Given the description of an element on the screen output the (x, y) to click on. 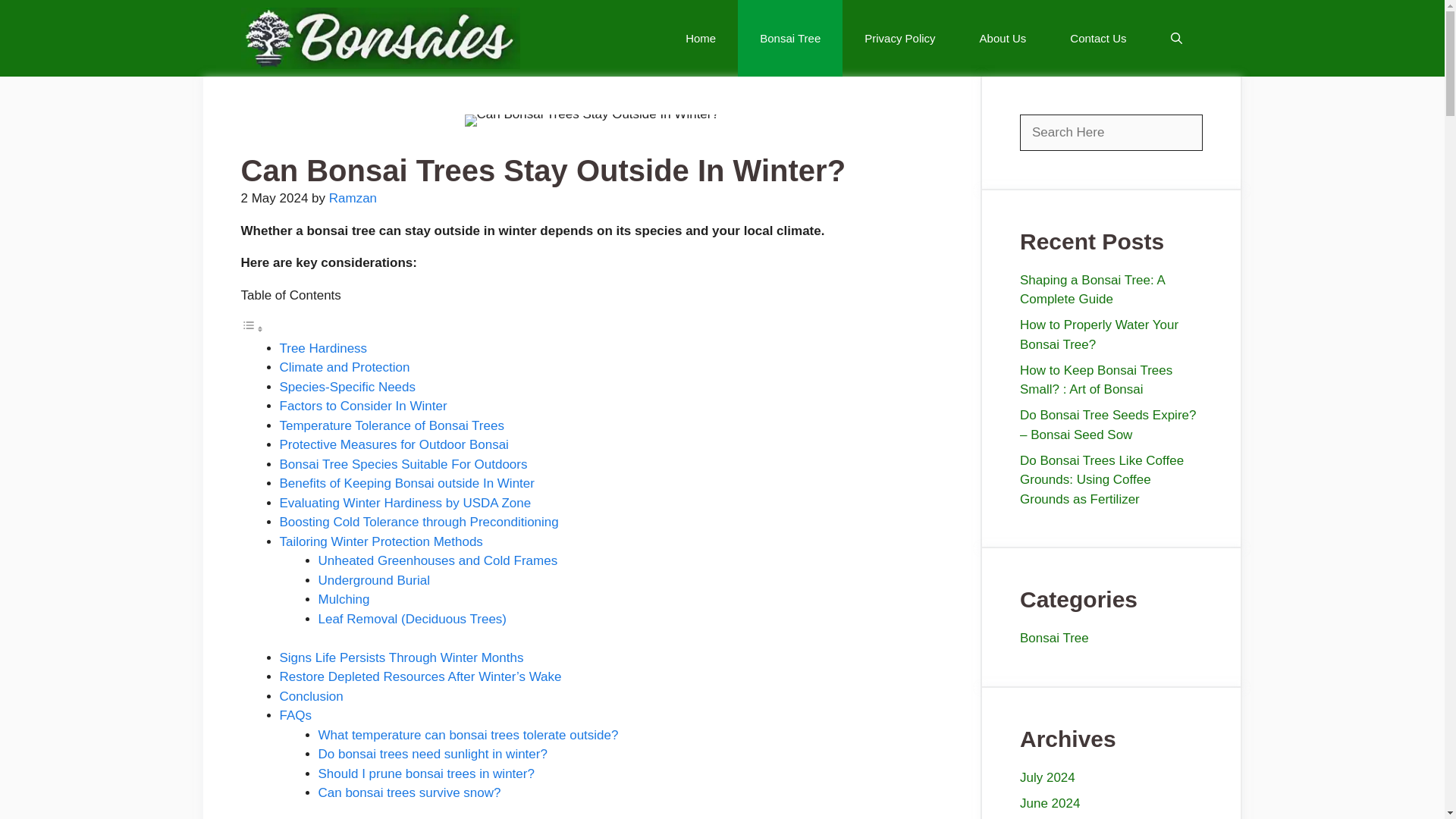
Tree Hardiness (322, 348)
Tailoring Winter Protection Methods (380, 540)
Protective Measures for Outdoor Bonsai (393, 444)
Contact Us (1098, 38)
Can Bonsai Trees Stay Outside In Winter? 1 (591, 120)
Underground Burial (373, 580)
Climate and Protection (344, 367)
Protective Measures for Outdoor Bonsai (393, 444)
Ramzan (353, 197)
FAQs (295, 715)
